Given the description of an element on the screen output the (x, y) to click on. 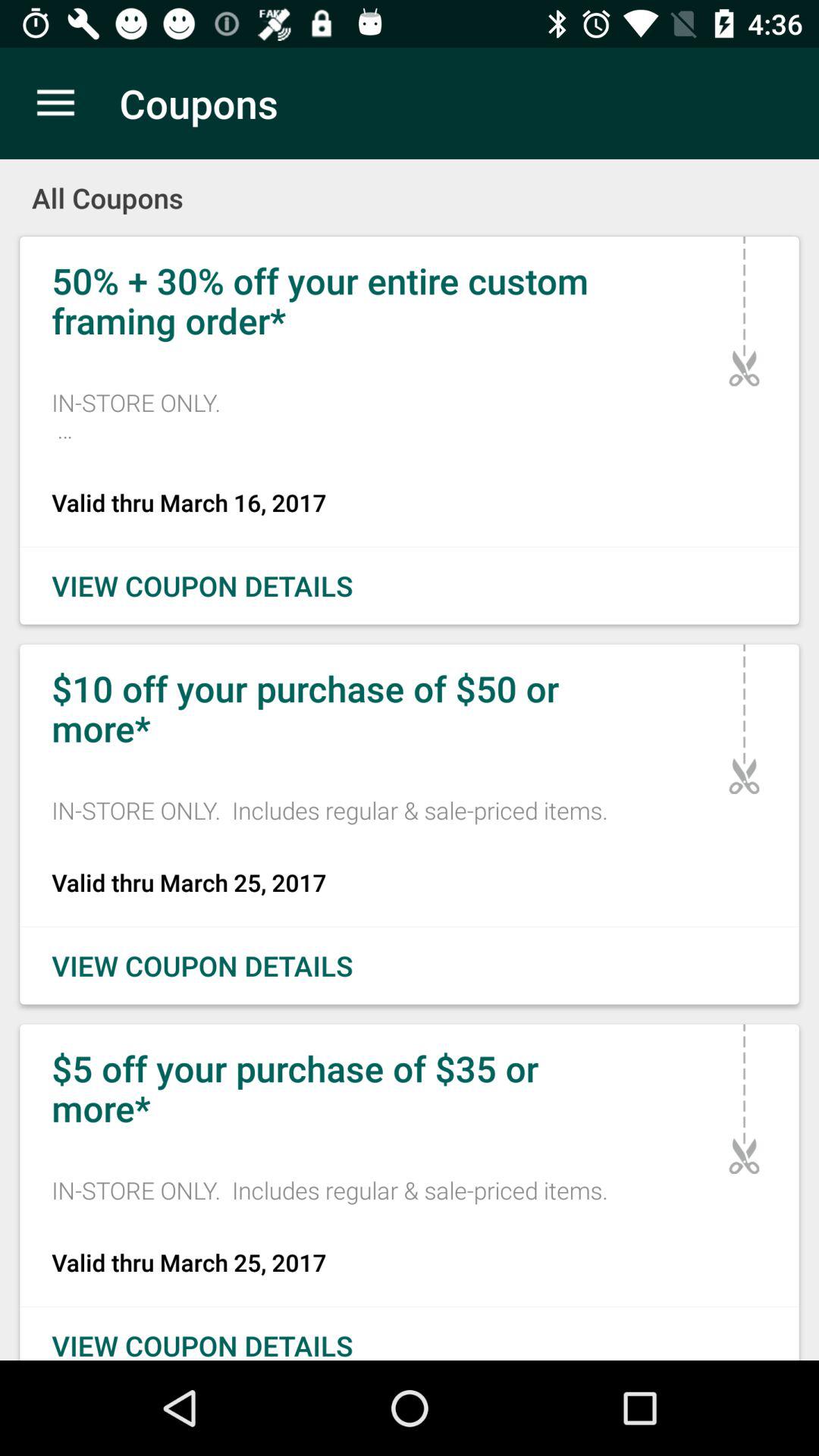
choose the icon above 50 30 off item (409, 187)
